Given the description of an element on the screen output the (x, y) to click on. 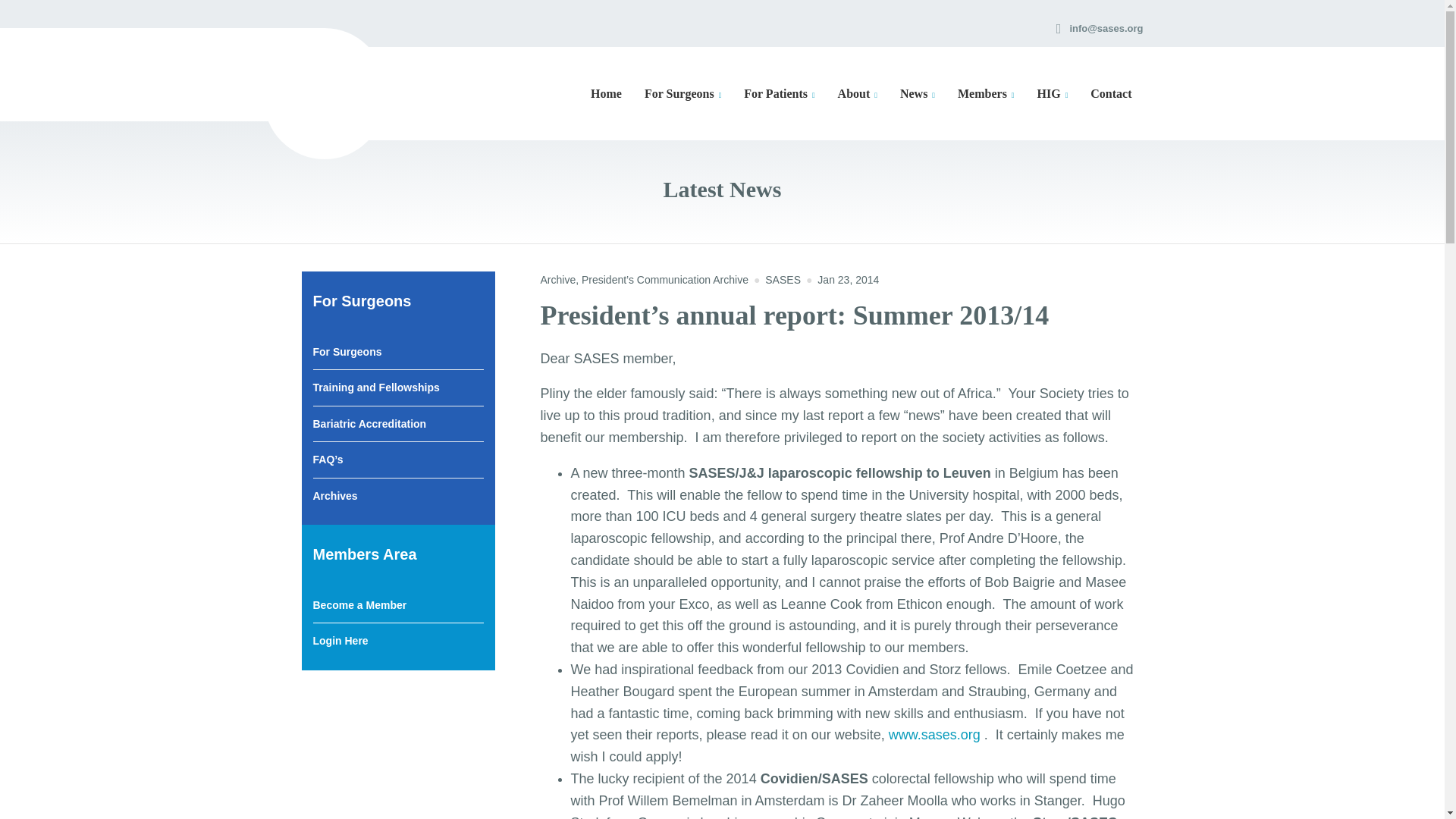
Members (986, 93)
Jan 23, 2014 (847, 279)
For Surgeons (682, 93)
Archive (557, 279)
www.sases.org (933, 734)
For Patients (778, 93)
